Given the description of an element on the screen output the (x, y) to click on. 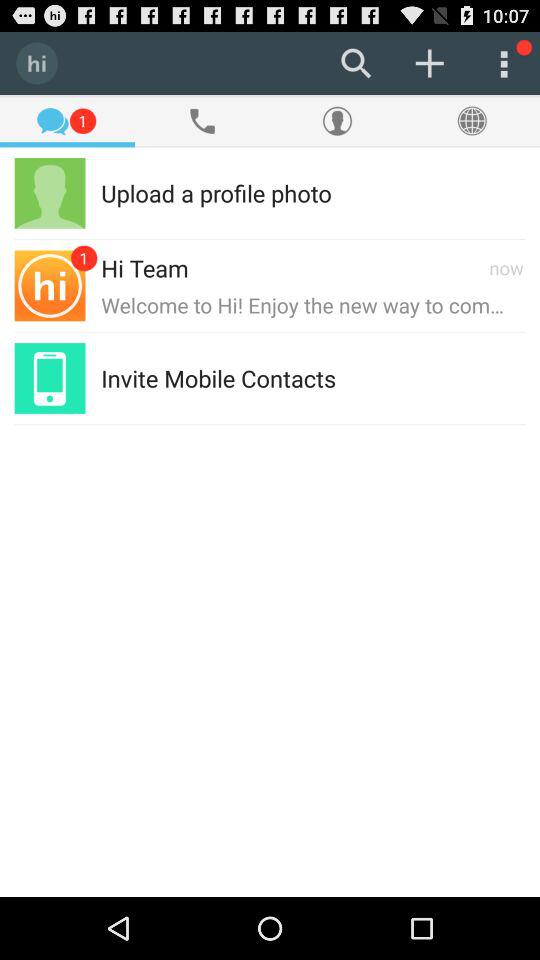
press invite mobile contacts app (218, 378)
